Given the description of an element on the screen output the (x, y) to click on. 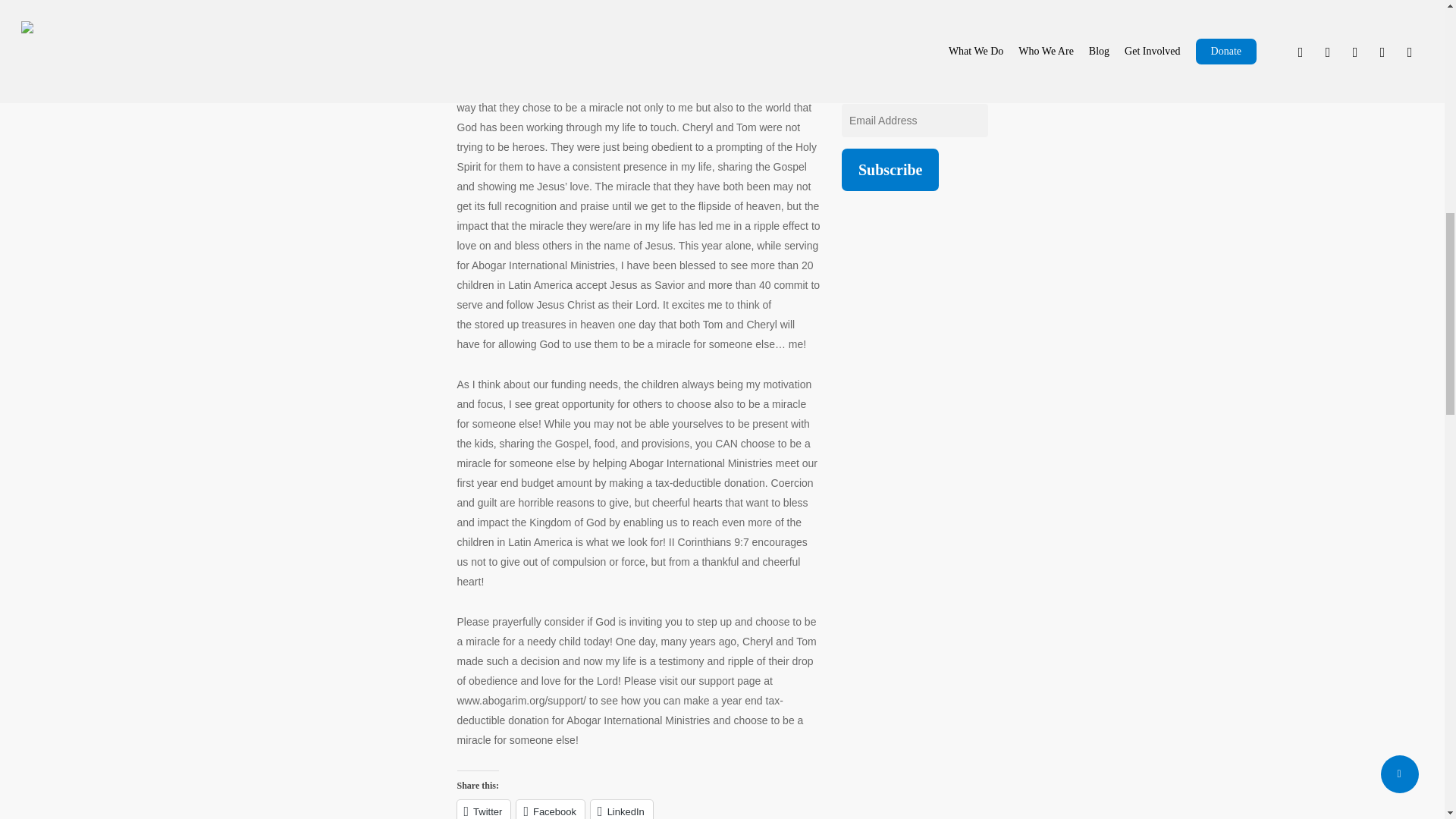
Click to share on LinkedIn (621, 809)
Twitter (484, 809)
Click to share on Facebook (550, 809)
LinkedIn (621, 809)
Click to share on Twitter (484, 809)
Facebook (550, 809)
